Given the description of an element on the screen output the (x, y) to click on. 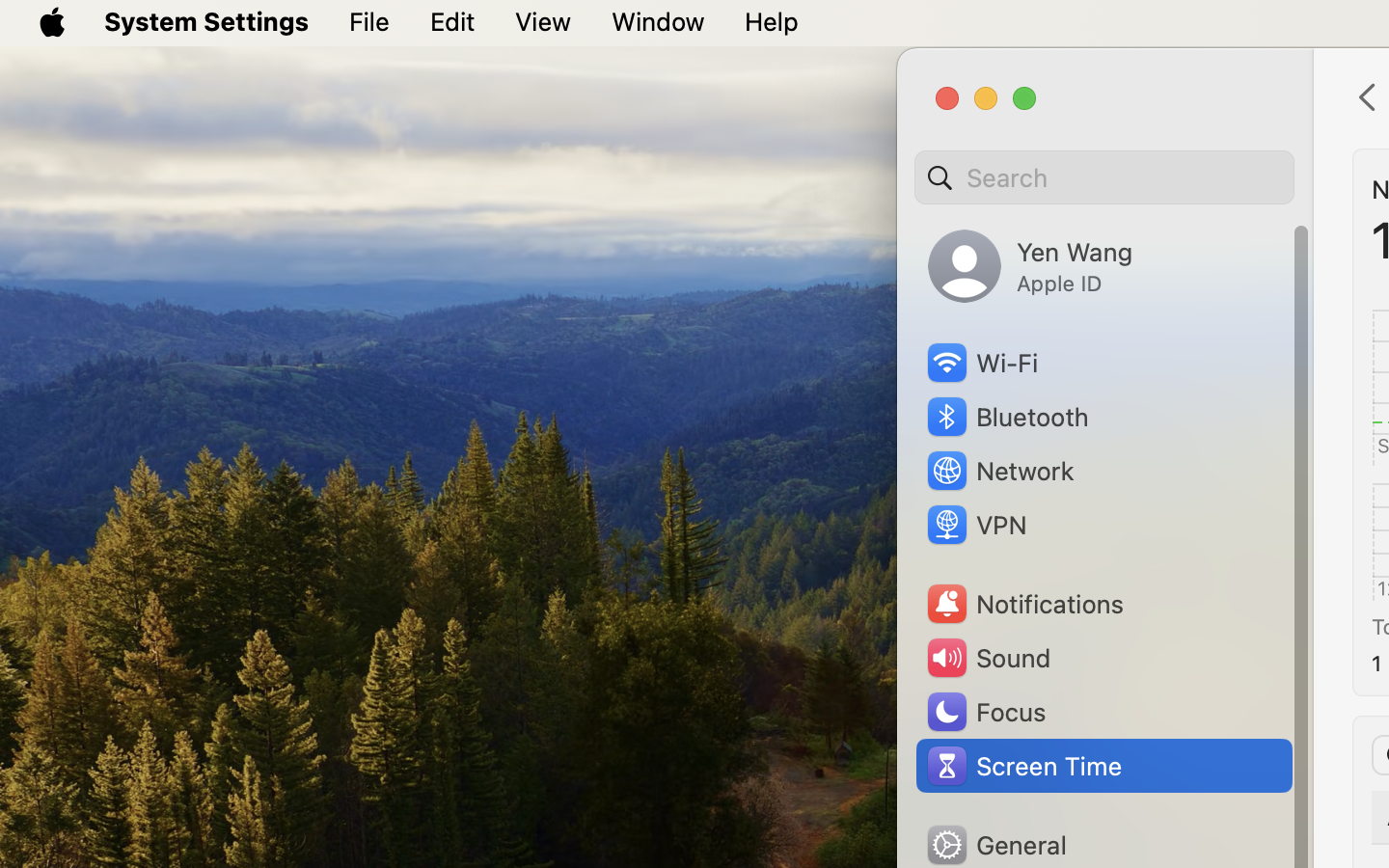
Wi‑Fi Element type: AXStaticText (980, 362)
Bluetooth Element type: AXStaticText (1006, 416)
Yen Wang, Apple ID Element type: AXStaticText (1029, 265)
Sound Element type: AXStaticText (987, 657)
Network Element type: AXStaticText (999, 470)
